Given the description of an element on the screen output the (x, y) to click on. 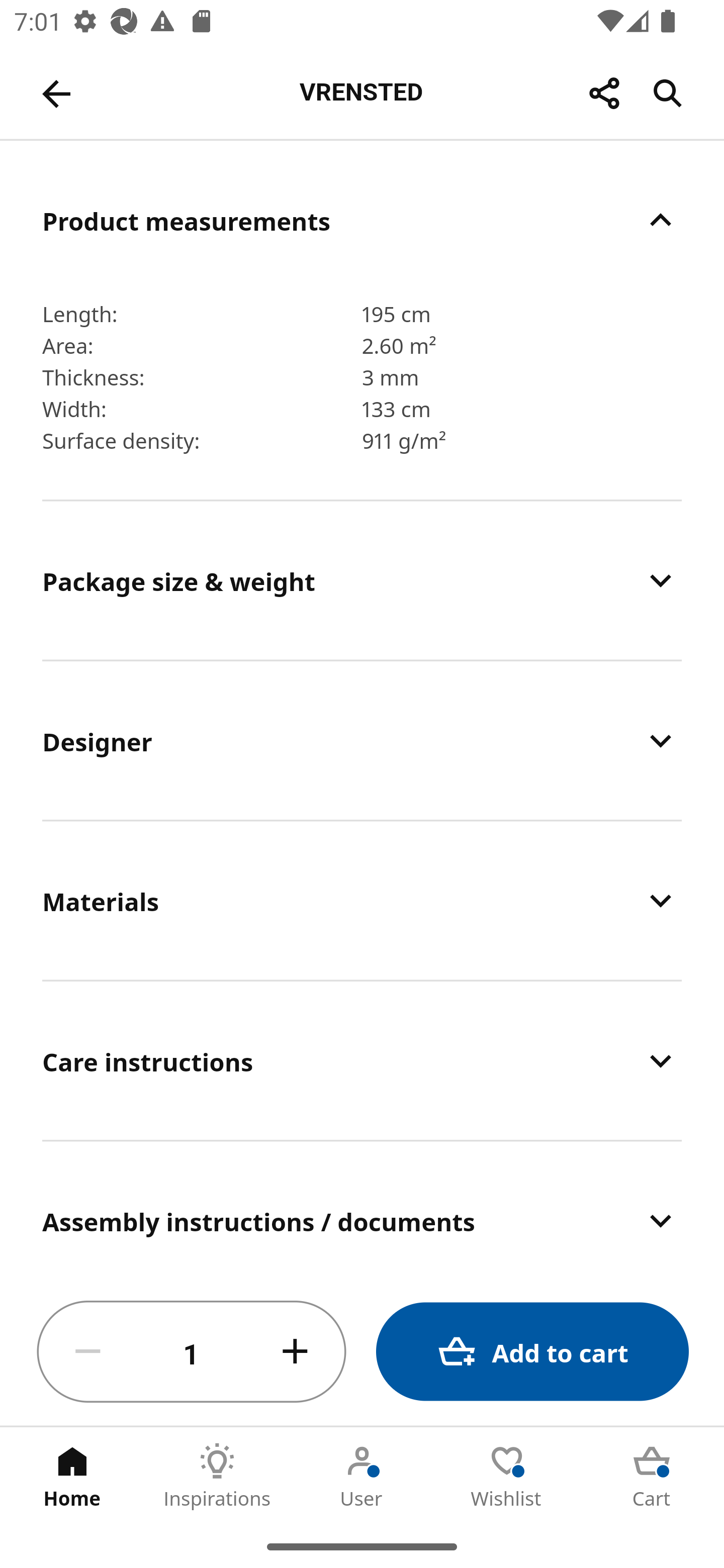
Product measurements (361, 219)
Package size & weight (361, 580)
Designer (361, 740)
Materials (361, 900)
Care instructions (361, 1060)
Assembly instructions / documents (361, 1210)
Add to cart (531, 1352)
1 (191, 1352)
Home
Tab 1 of 5 (72, 1476)
Inspirations
Tab 2 of 5 (216, 1476)
User
Tab 3 of 5 (361, 1476)
Wishlist
Tab 4 of 5 (506, 1476)
Cart
Tab 5 of 5 (651, 1476)
